Given the description of an element on the screen output the (x, y) to click on. 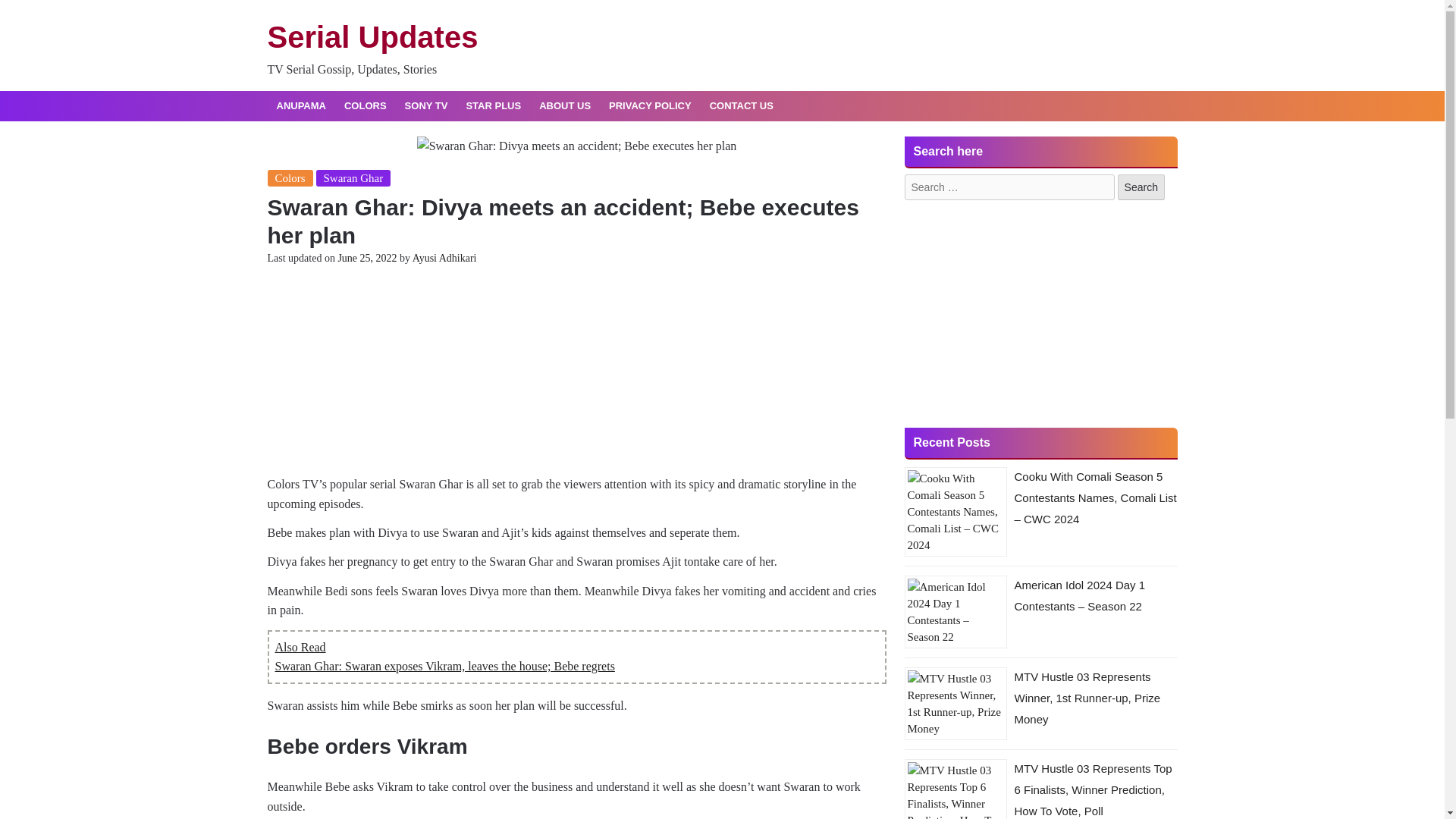
COLORS (365, 106)
Serial Updates (371, 37)
CONTACT US (741, 106)
Colors (289, 177)
ANUPAMA (300, 106)
Search (1141, 186)
Ayusi Adhikari (444, 257)
Search (1141, 186)
MTV Hustle 03 Represents Winner, 1st Runner-up, Prize Money (1087, 698)
STAR PLUS (493, 106)
SONY TV (426, 106)
June 25, 2022 (366, 257)
ABOUT US (564, 106)
